Given the description of an element on the screen output the (x, y) to click on. 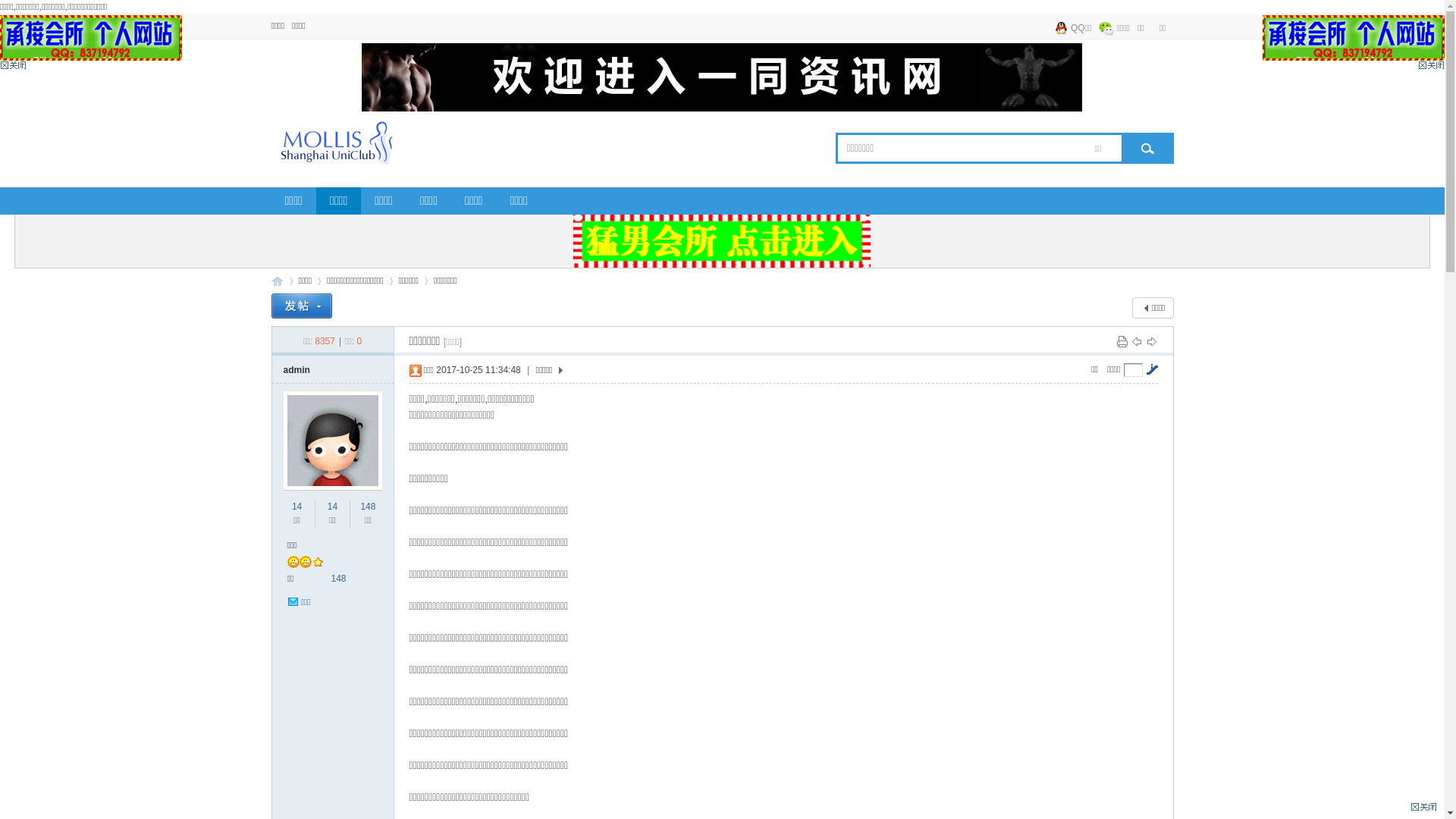
14 Element type: text (332, 506)
admin Element type: text (296, 369)
148 Element type: text (367, 506)
true Element type: text (1143, 147)
148 Element type: text (337, 578)
14 Element type: text (296, 506)
